Given the description of an element on the screen output the (x, y) to click on. 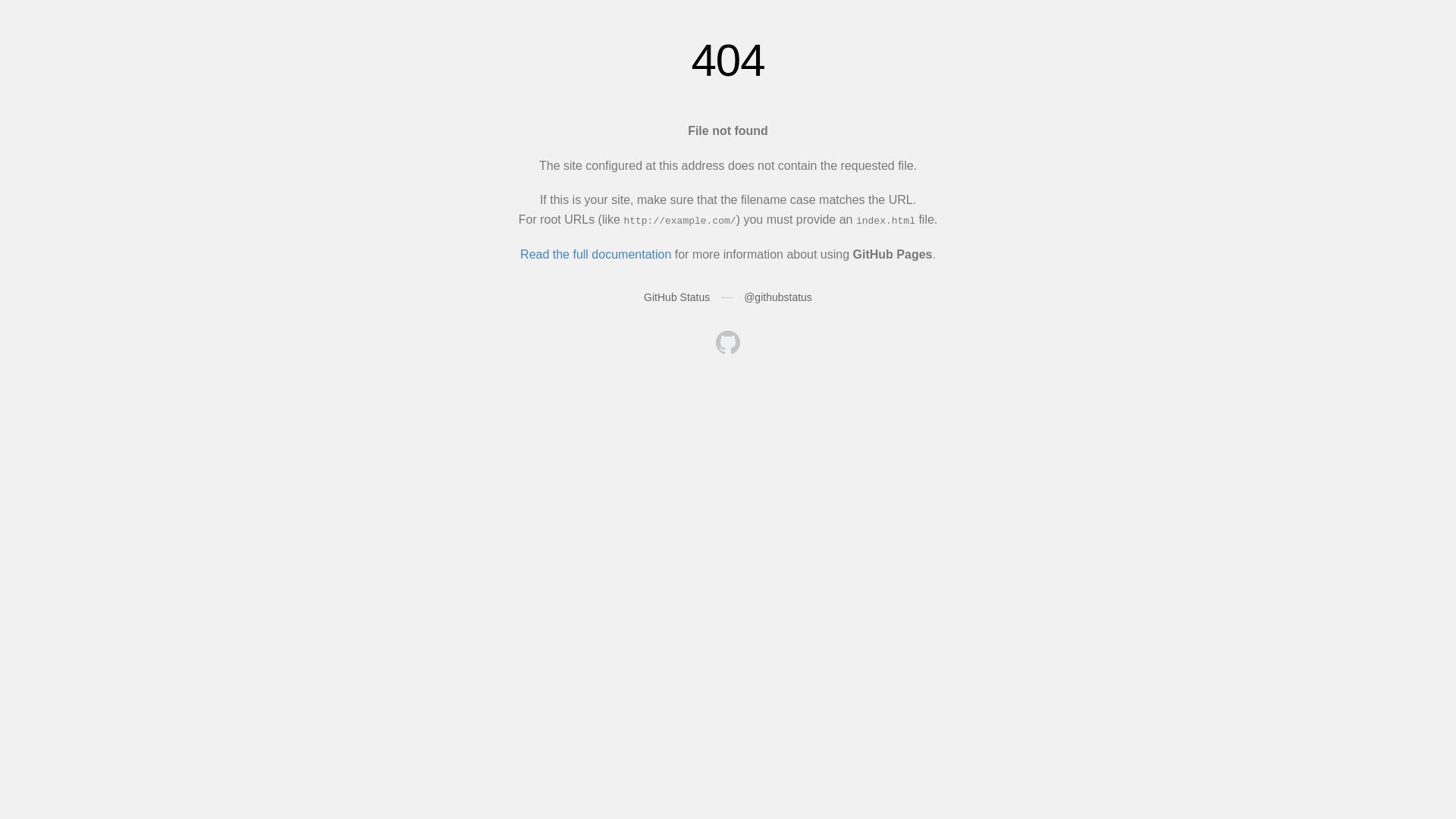
Read the full documentation Element type: text (595, 253)
@githubstatus Element type: text (777, 297)
GitHub Status Element type: text (676, 297)
